Given the description of an element on the screen output the (x, y) to click on. 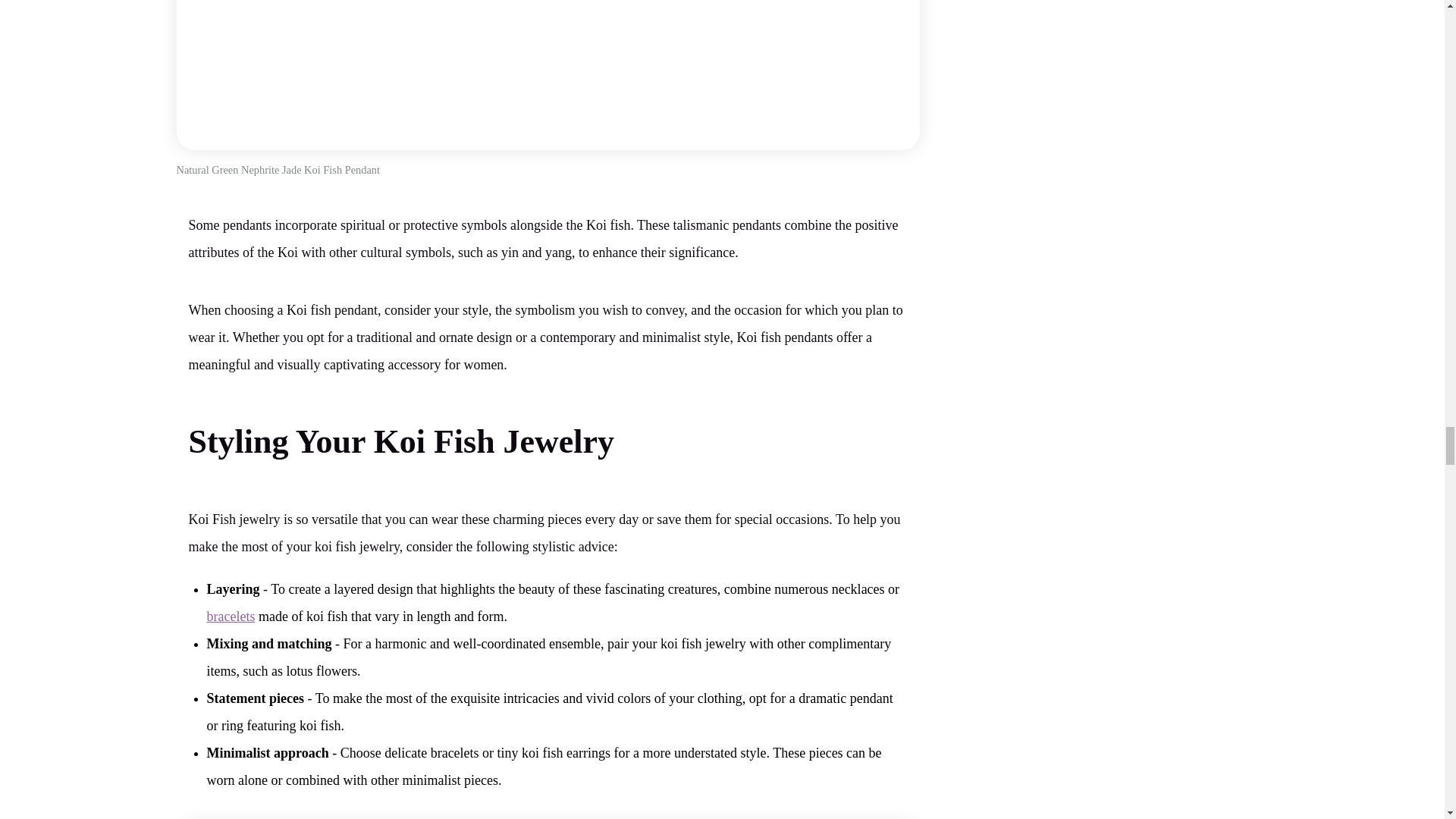
Styling Your Koi Fish Jewelry (399, 441)
